Given the description of an element on the screen output the (x, y) to click on. 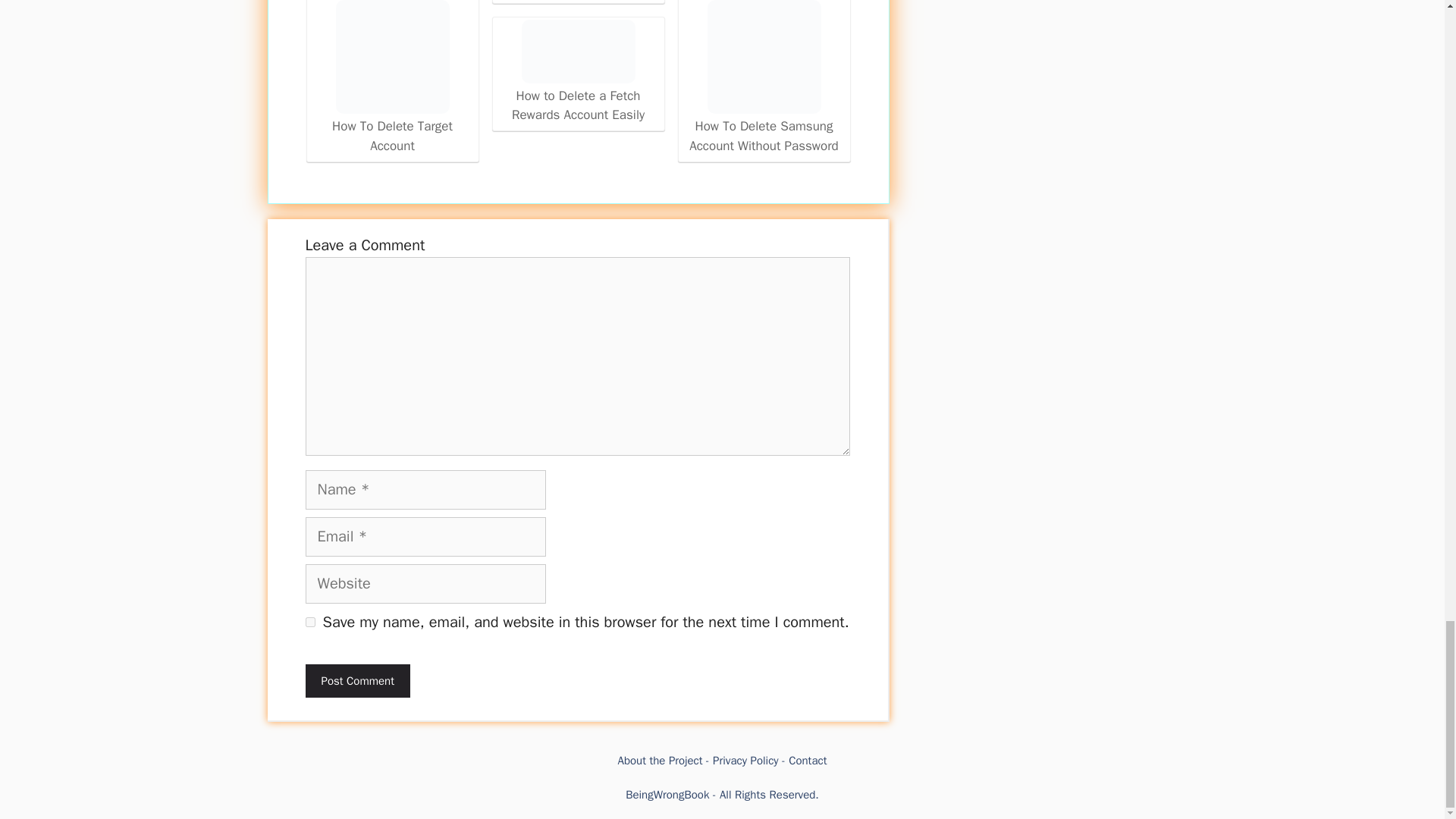
How to Delete a Fetch Rewards Account Easily (577, 51)
Post Comment (356, 681)
How To Delete Target Account (391, 56)
How To Delete Target Account (392, 77)
Post Comment (356, 681)
yes (309, 622)
How To Delete Samsung Account Without Password (764, 77)
How to Delete a Fetch Rewards Account Easily (578, 72)
